Given the description of an element on the screen output the (x, y) to click on. 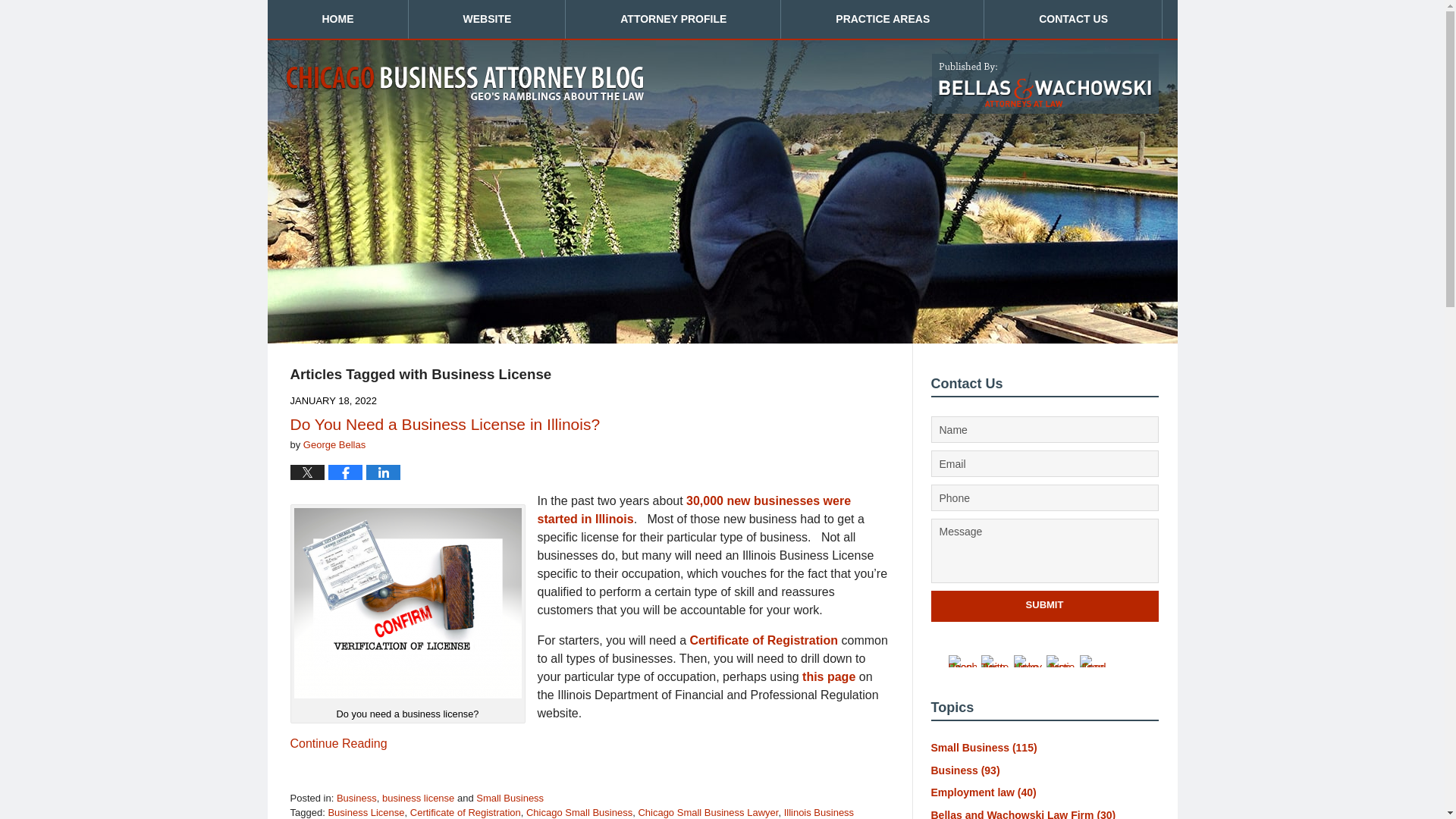
ATTORNEY PROFILE (673, 19)
Illinois Business License (571, 812)
Please enter a valid phone number. (1044, 497)
business license (417, 797)
Business License (365, 812)
Certificate of Registration (465, 812)
PRACTICE AREAS (882, 19)
Chicago Small Business Lawyer (707, 812)
HOME (336, 19)
View all posts tagged with Illinois Business License (571, 812)
